Given the description of an element on the screen output the (x, y) to click on. 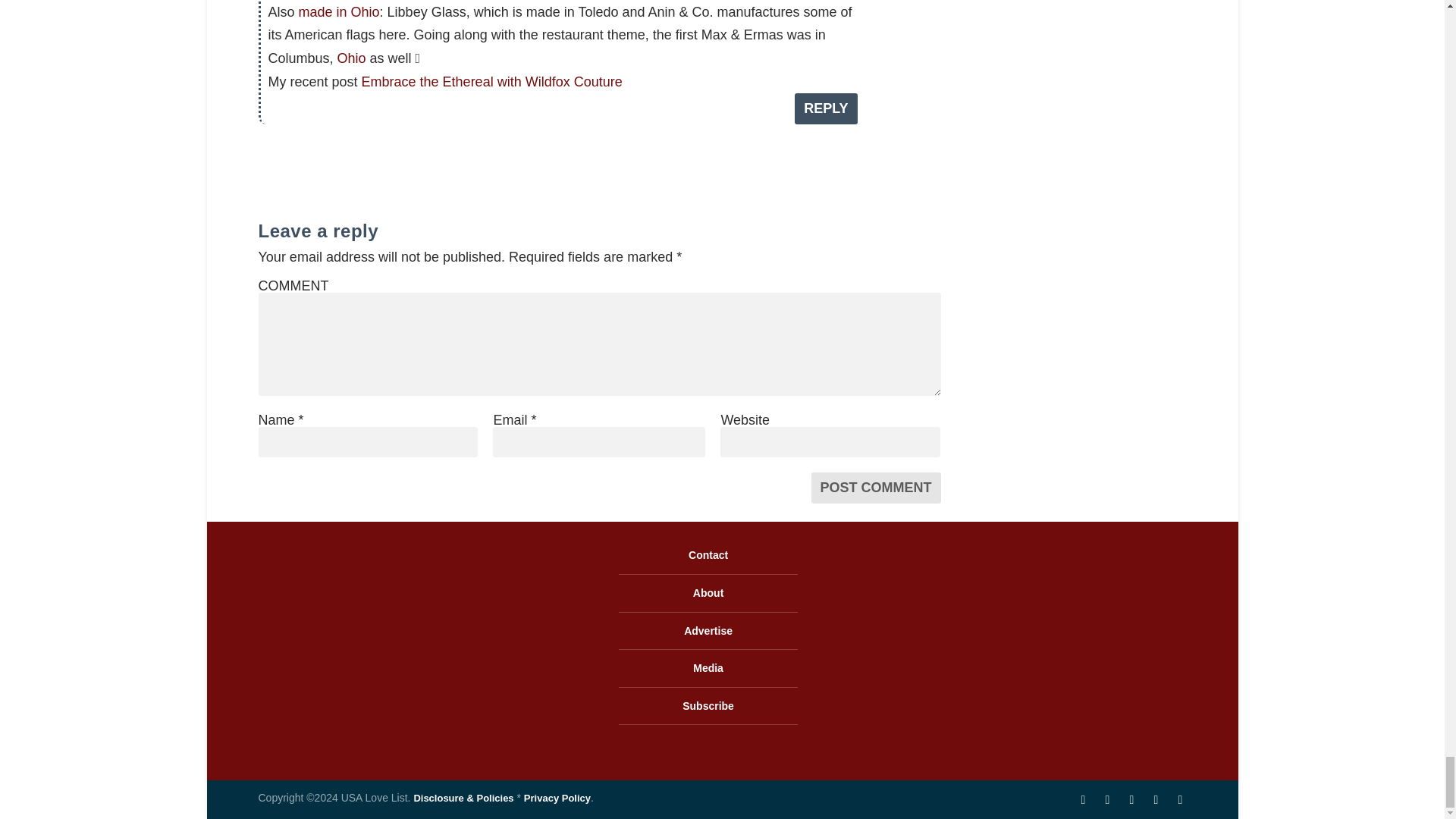
Post Comment (875, 487)
